Given the description of an element on the screen output the (x, y) to click on. 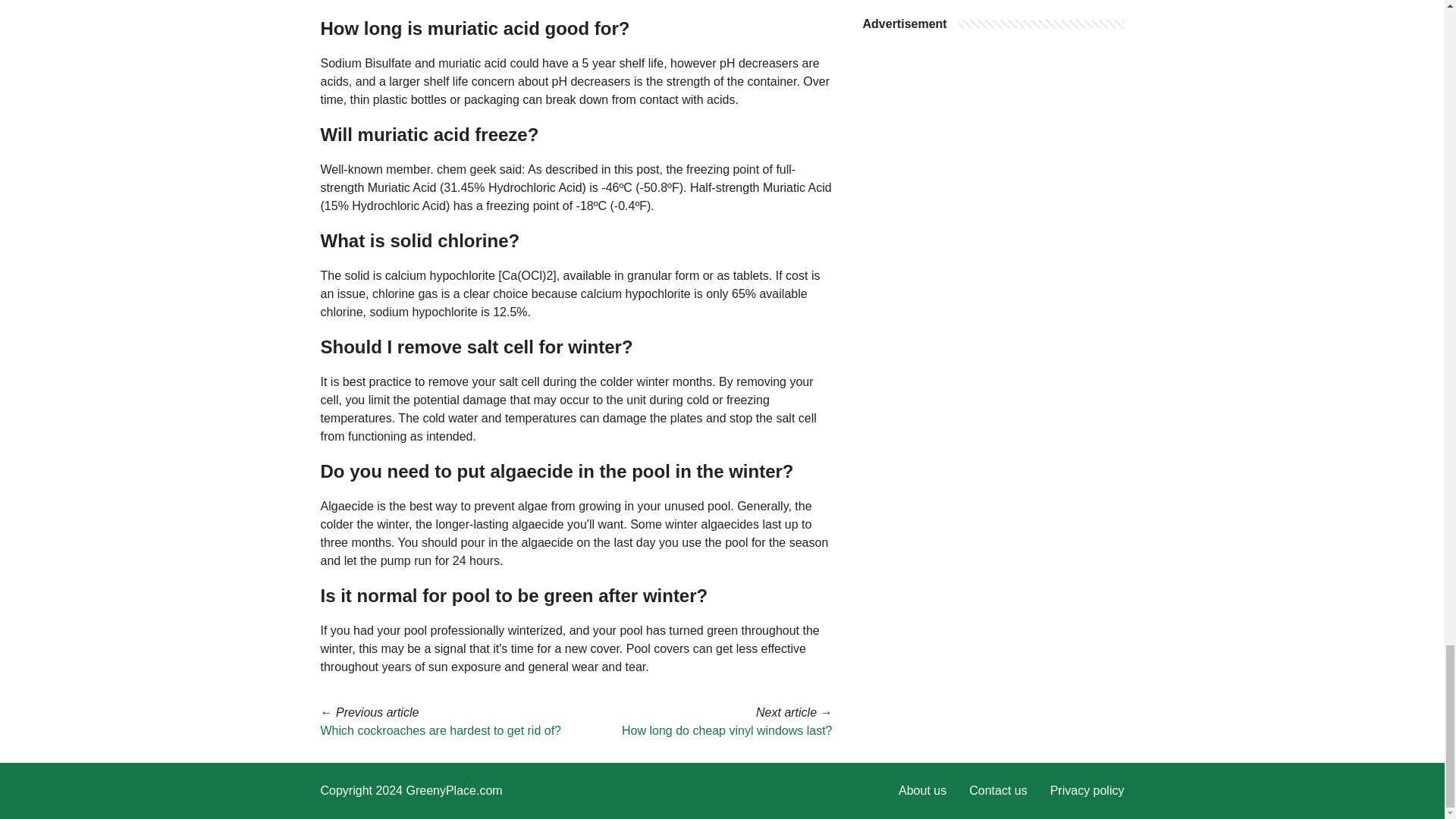
How long do cheap vinyl windows last? (726, 730)
Which cockroaches are hardest to get rid of? (440, 730)
